Given the description of an element on the screen output the (x, y) to click on. 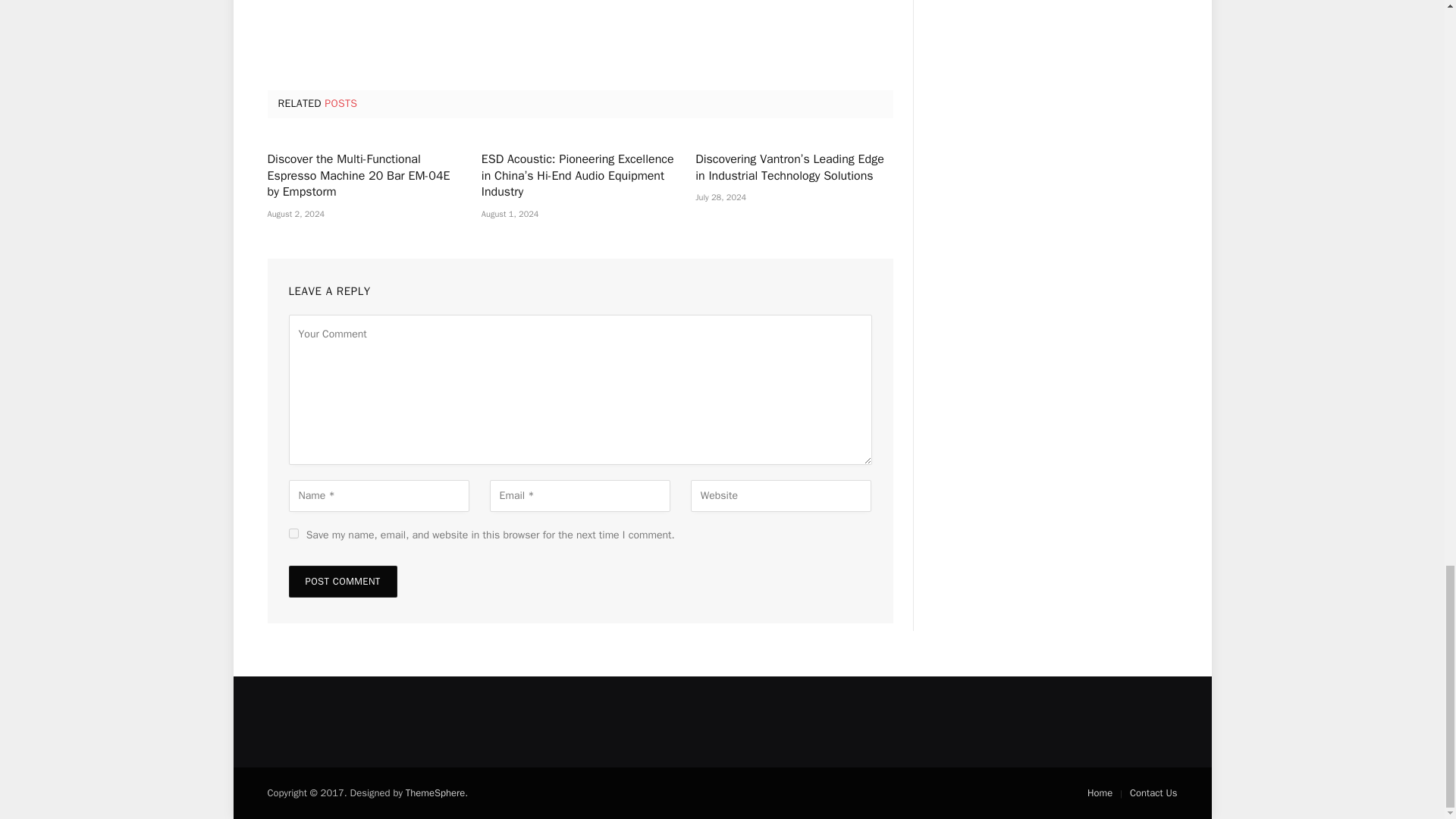
yes (293, 533)
Post Comment (342, 581)
